Given the description of an element on the screen output the (x, y) to click on. 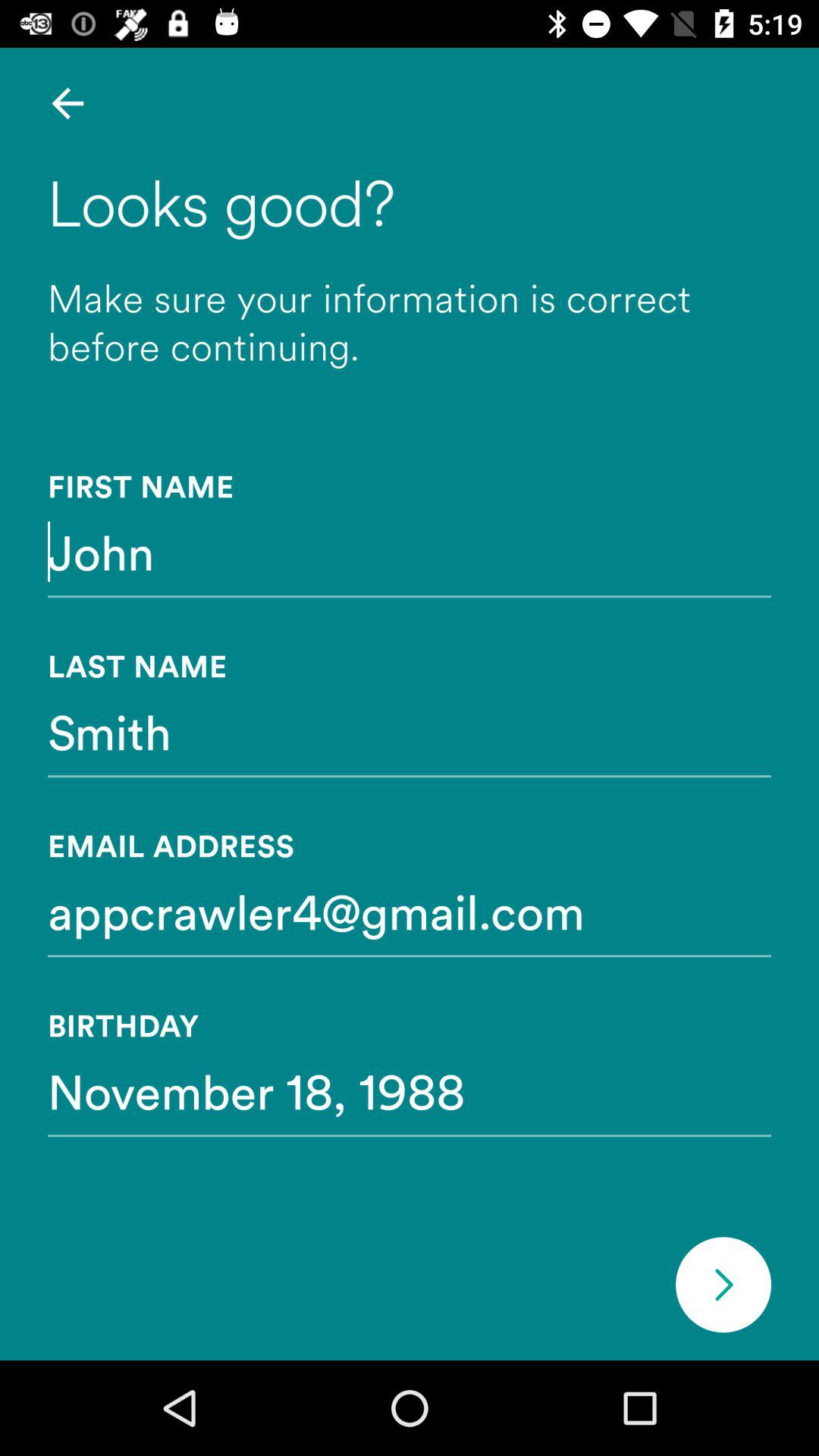
flip to smith (409, 731)
